Given the description of an element on the screen output the (x, y) to click on. 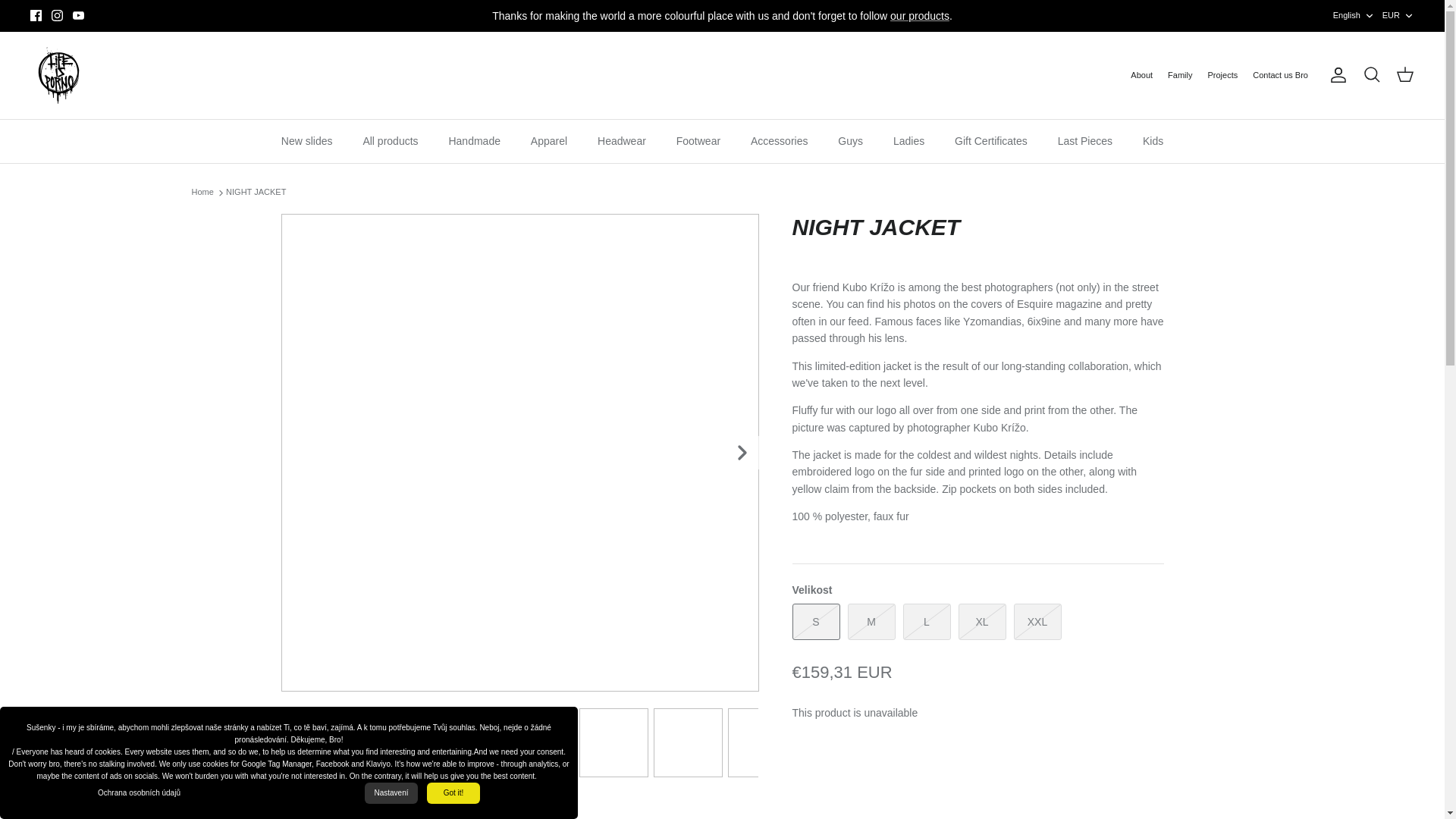
All products (389, 140)
Search (1371, 75)
Facebook (36, 15)
About (1142, 75)
Family (1179, 75)
Down (1408, 15)
Facebook (36, 15)
Projects (1222, 75)
Contact us Bro (1279, 75)
Cart (1397, 15)
Right (1404, 75)
New slides (741, 452)
Instagram (306, 140)
Down (56, 15)
